Given the description of an element on the screen output the (x, y) to click on. 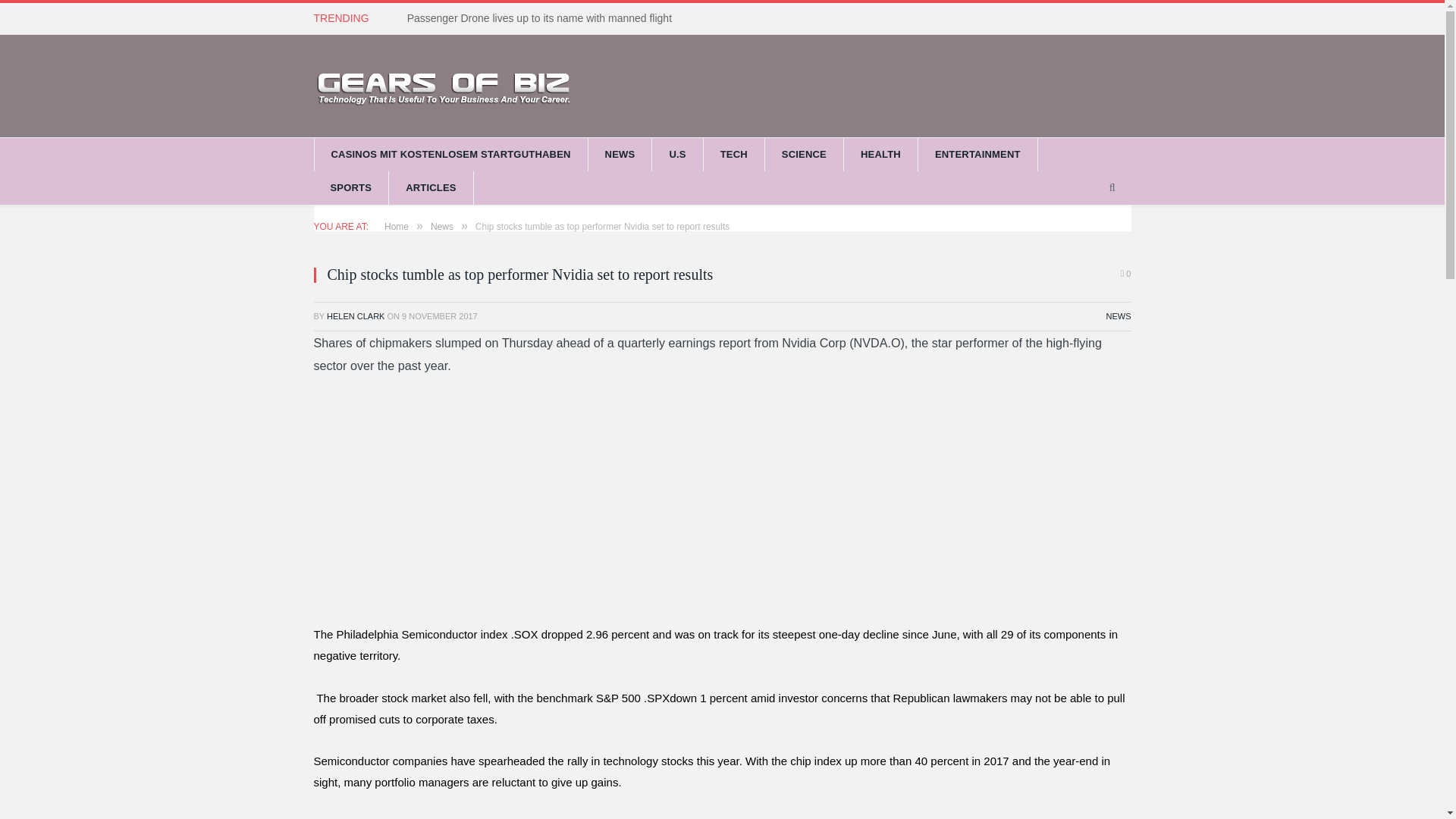
CASINOS MIT KOSTENLOSEM STARTGUTHABEN (451, 154)
HELEN CLARK (355, 316)
NEWS (1118, 316)
News (441, 226)
SCIENCE (804, 154)
Passenger Drone lives up to its name with manned flight (543, 18)
ARTICLES (431, 187)
SPORTS (352, 187)
U.S (677, 154)
NEWS (620, 154)
HEALTH (881, 154)
ENTERTAINMENT (978, 154)
Search (1112, 188)
Home (396, 226)
Passenger Drone lives up to its name with manned flight (543, 18)
